Given the description of an element on the screen output the (x, y) to click on. 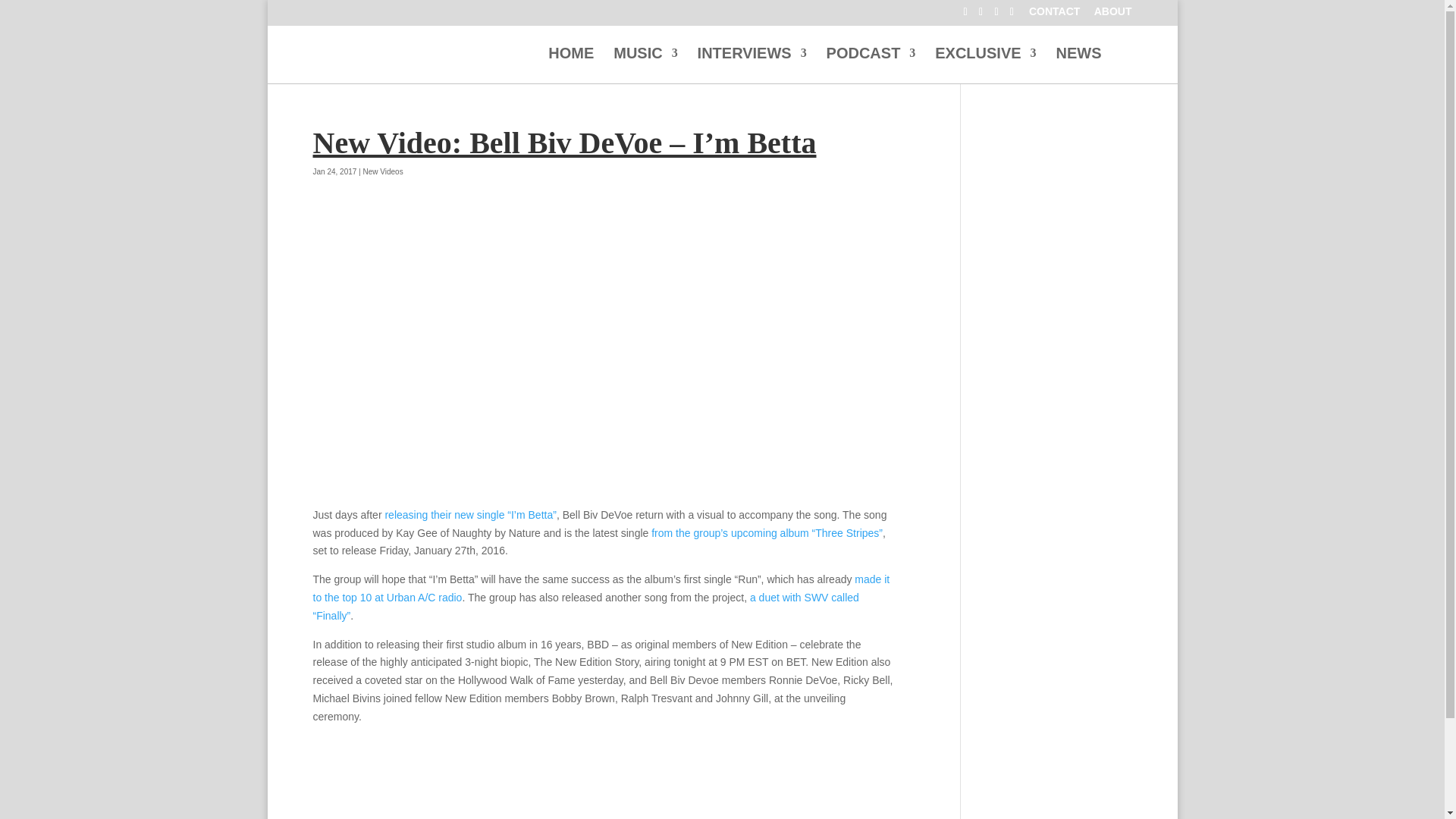
New Videos (382, 171)
NEWS (1077, 65)
CONTACT (1054, 15)
EXCLUSIVE (984, 65)
MUSIC (644, 65)
INTERVIEWS (751, 65)
PODCAST (871, 65)
HOME (571, 65)
ABOUT (1113, 15)
